Given the description of an element on the screen output the (x, y) to click on. 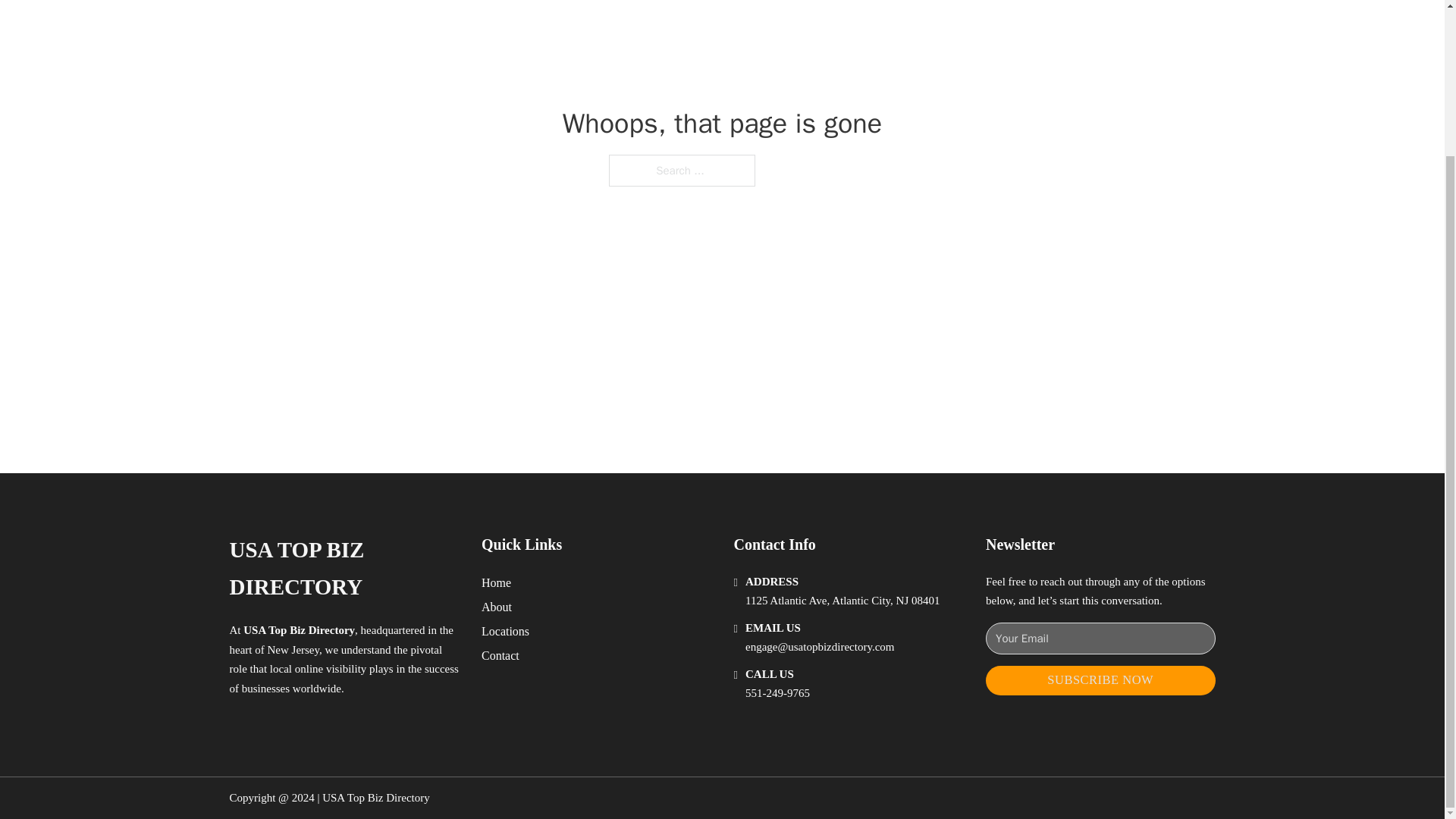
USA TOP BIZ DIRECTORY (343, 568)
Locations (505, 630)
Home (496, 582)
551-249-9765 (777, 693)
Contact (500, 655)
SUBSCRIBE NOW (1100, 680)
About (496, 607)
